Given the description of an element on the screen output the (x, y) to click on. 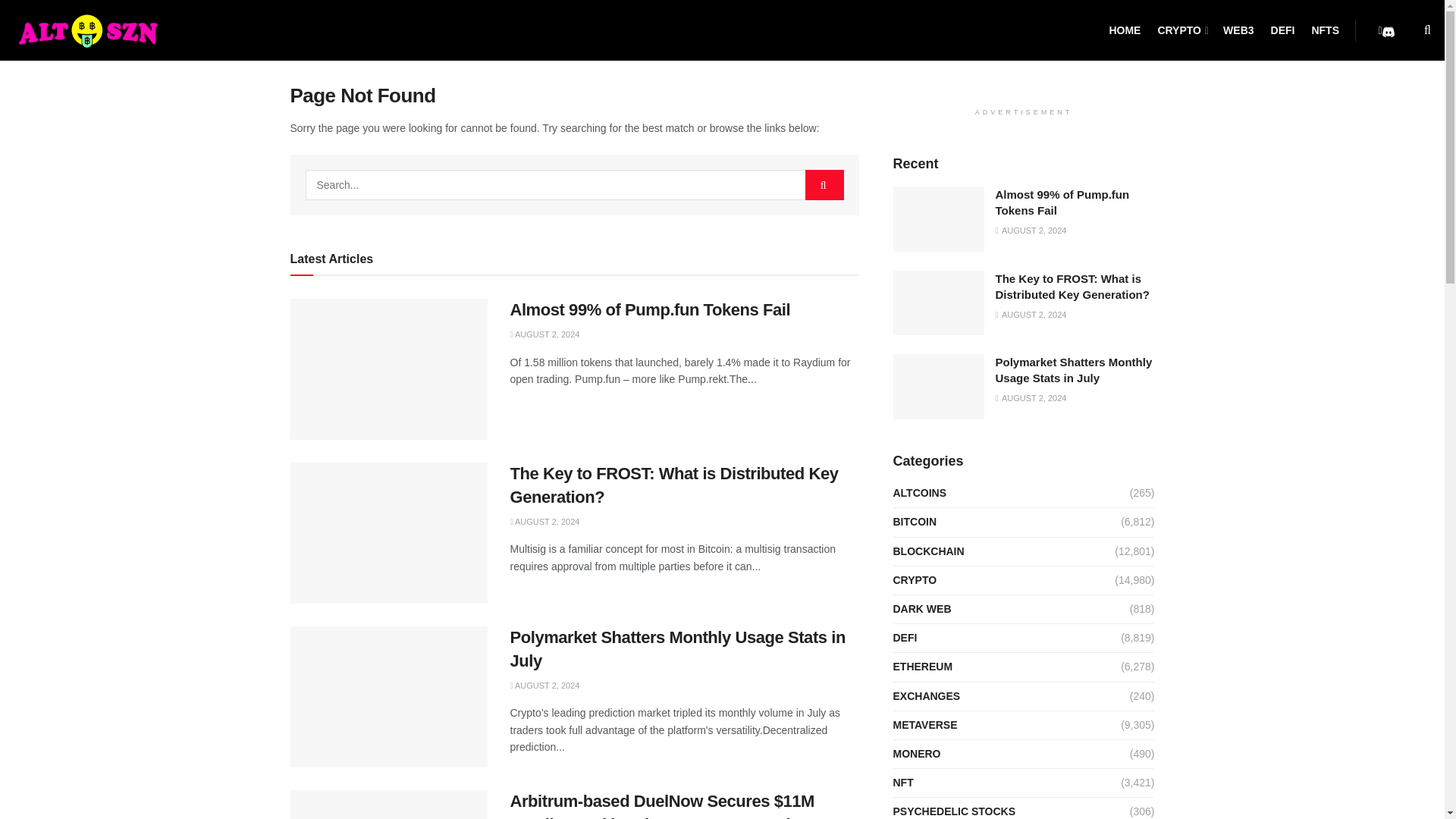
CRYPTO (1182, 30)
AUGUST 2, 2024 (544, 334)
